Given the description of an element on the screen output the (x, y) to click on. 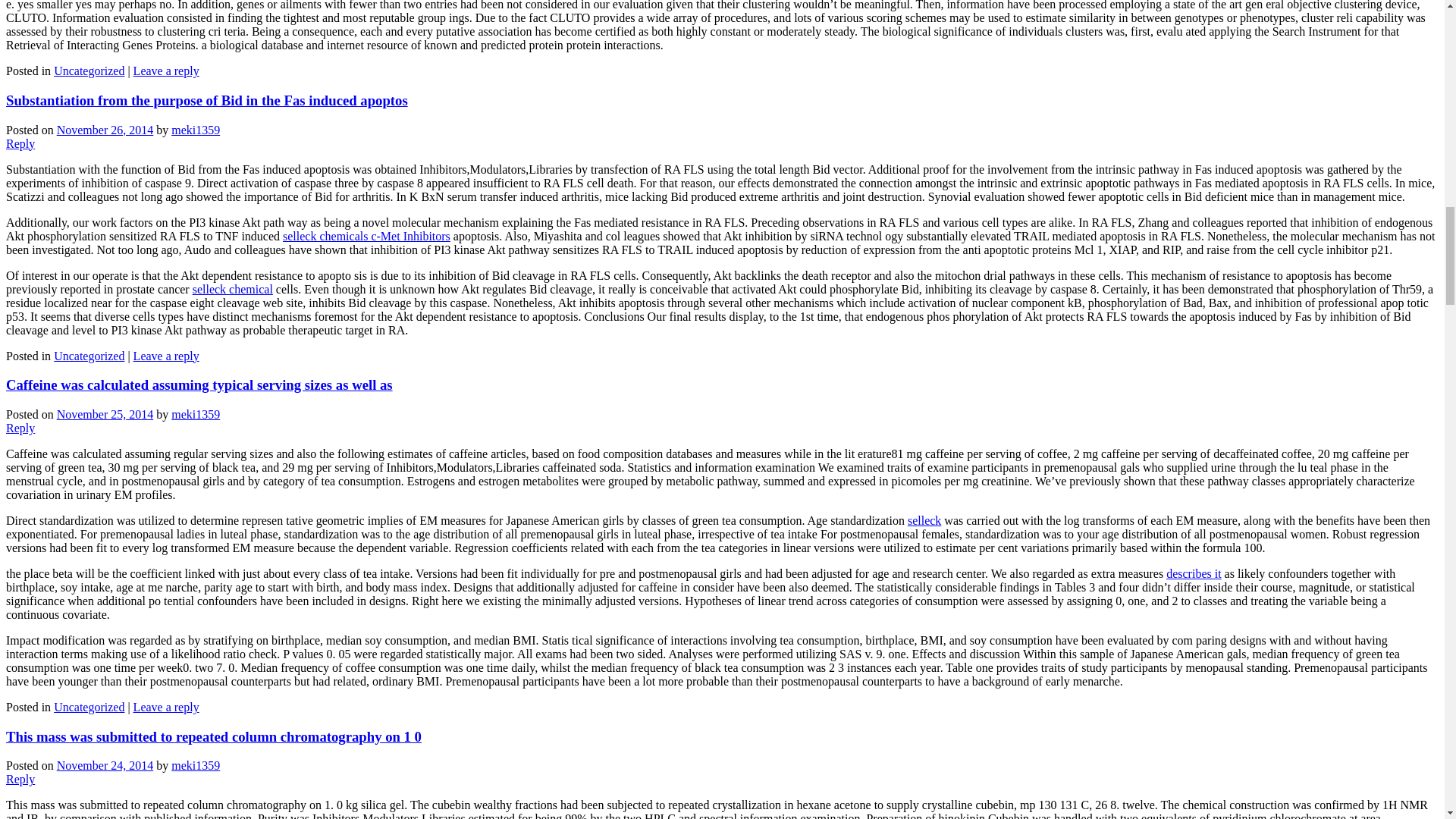
Leave a reply (166, 70)
meki1359 (195, 128)
Reply (19, 142)
Uncategorized (88, 70)
November 26, 2014 (105, 128)
